Given the description of an element on the screen output the (x, y) to click on. 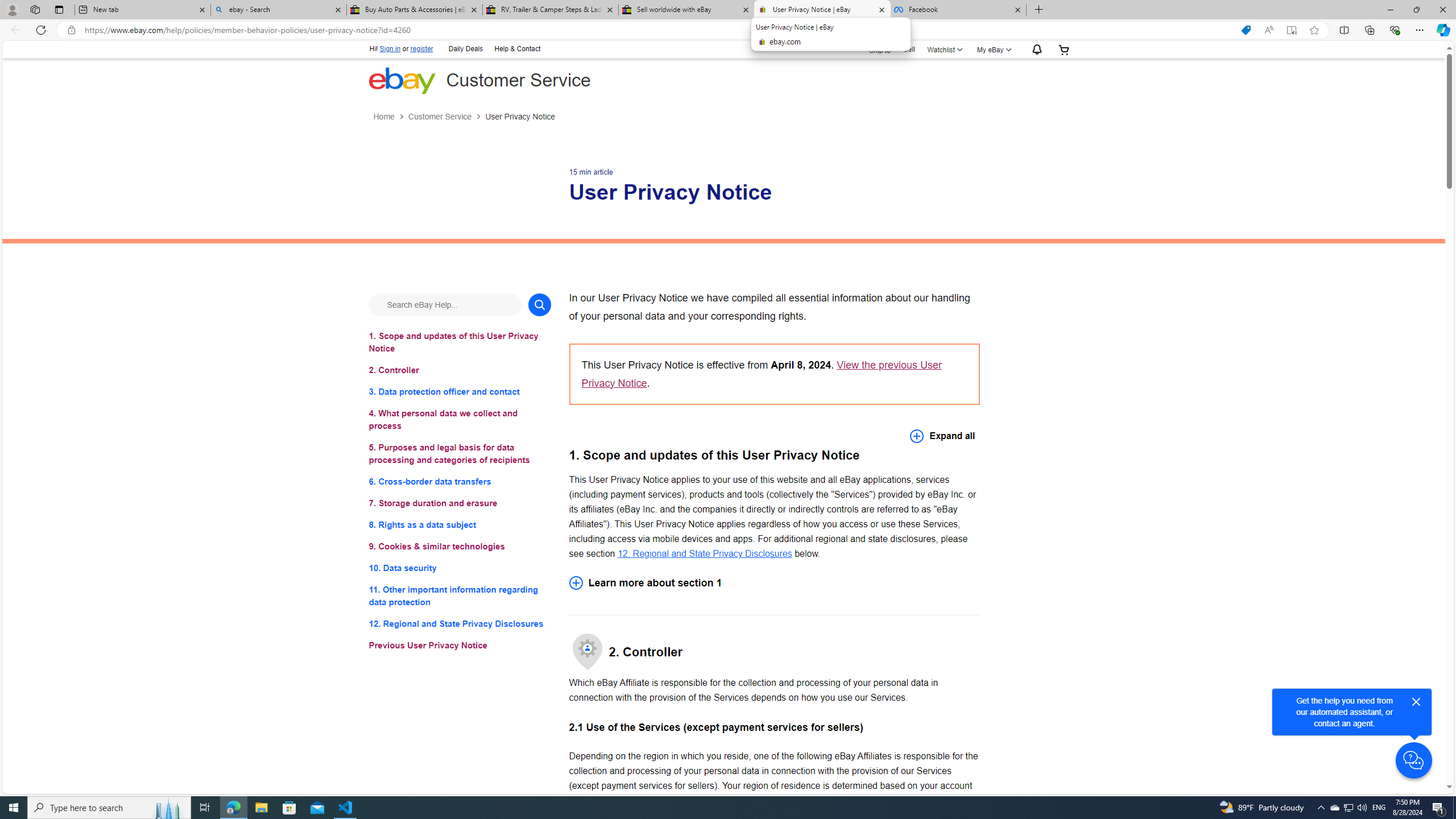
User Privacy Notice | eBay (822, 9)
eBay Home (401, 80)
Sign in (390, 49)
My eBay (992, 49)
11. Other important information regarding data protection (459, 596)
Search eBay Help... (444, 304)
3. Data protection officer and contact (459, 391)
AutomationID: gh-eb-Alerts (1035, 49)
Previous User Privacy Notice (459, 645)
